Given the description of an element on the screen output the (x, y) to click on. 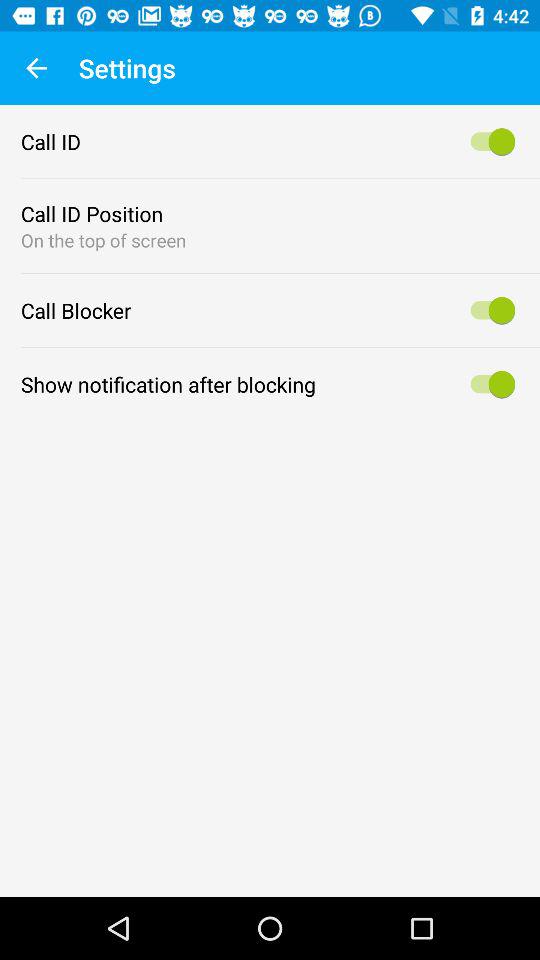
toggle call blocker (489, 309)
